Given the description of an element on the screen output the (x, y) to click on. 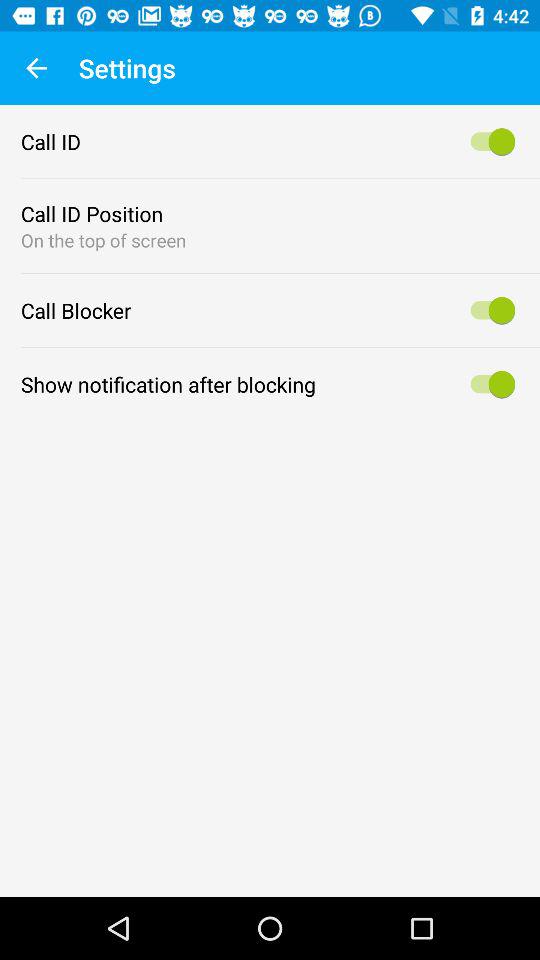
toggle call blocker (489, 309)
